Given the description of an element on the screen output the (x, y) to click on. 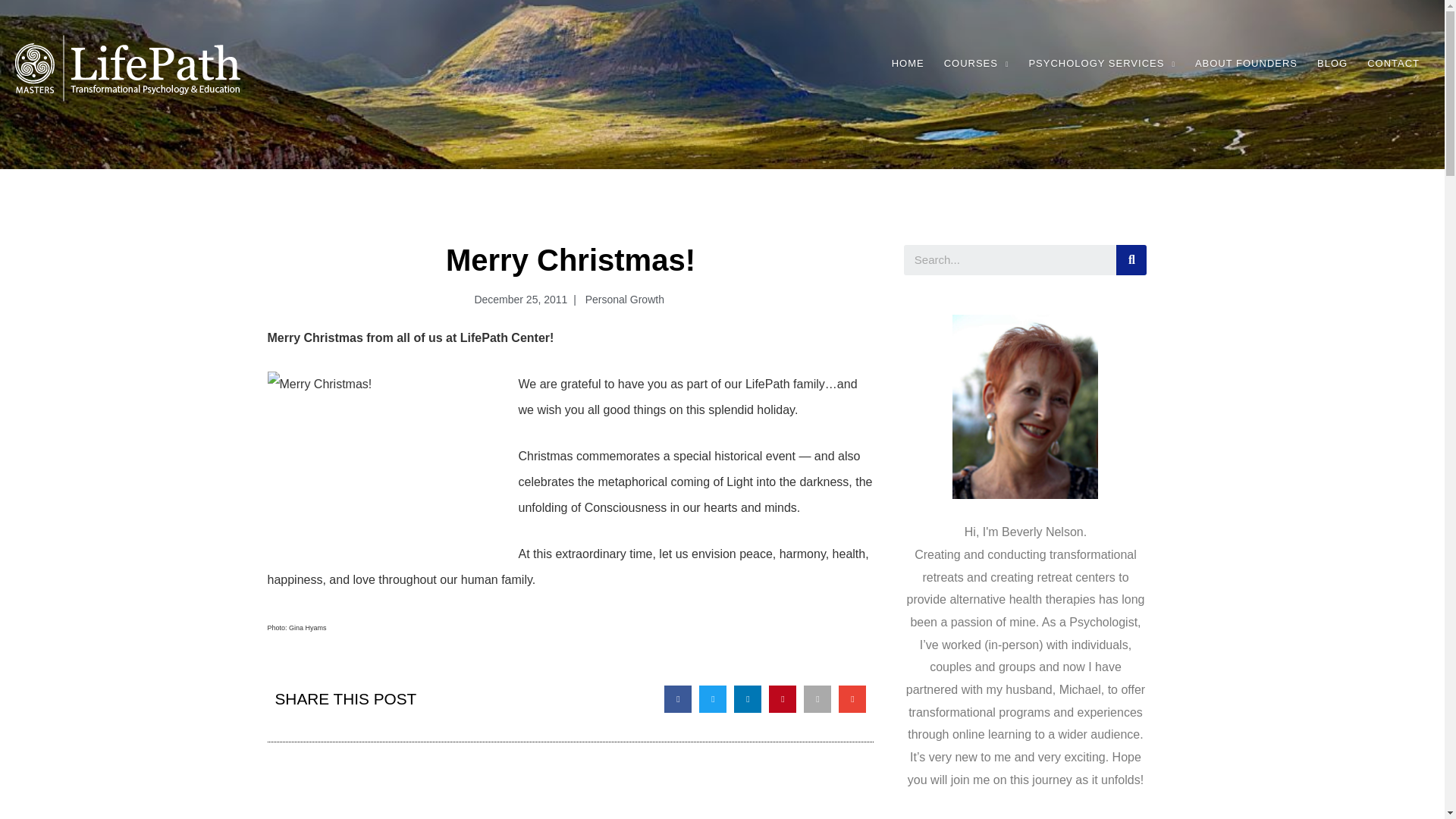
BLOG (1331, 63)
December 25, 2011 (517, 300)
Search (1131, 259)
Personal Growth (622, 299)
Search (1010, 259)
HOME (908, 63)
CONTACT (1392, 63)
ABOUT FOUNDERS (1246, 63)
PSYCHOLOGY SERVICES (1101, 63)
COURSES (976, 63)
